Given the description of an element on the screen output the (x, y) to click on. 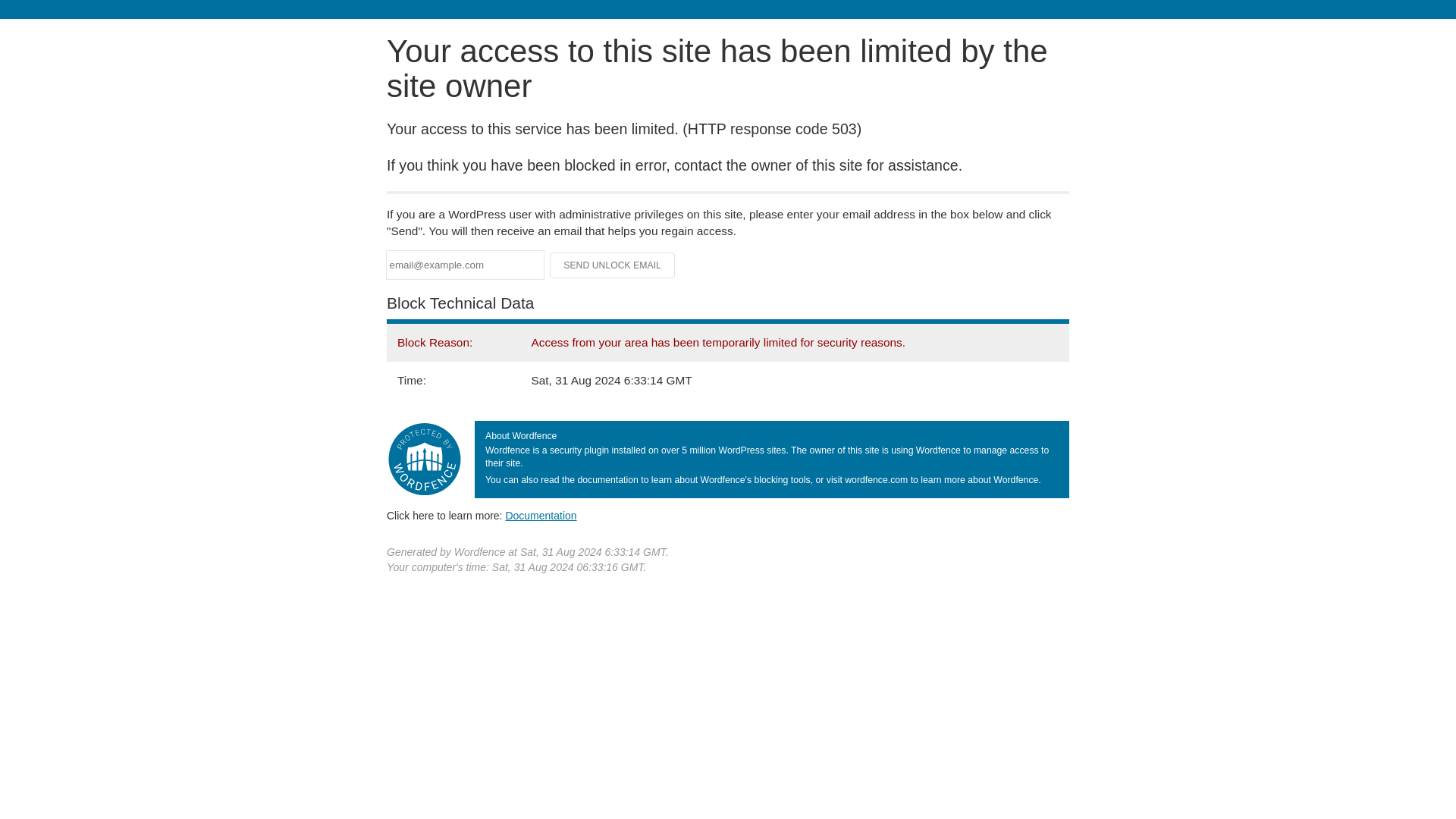
Documentation (540, 515)
Send Unlock Email (612, 265)
Send Unlock Email (612, 265)
